Given the description of an element on the screen output the (x, y) to click on. 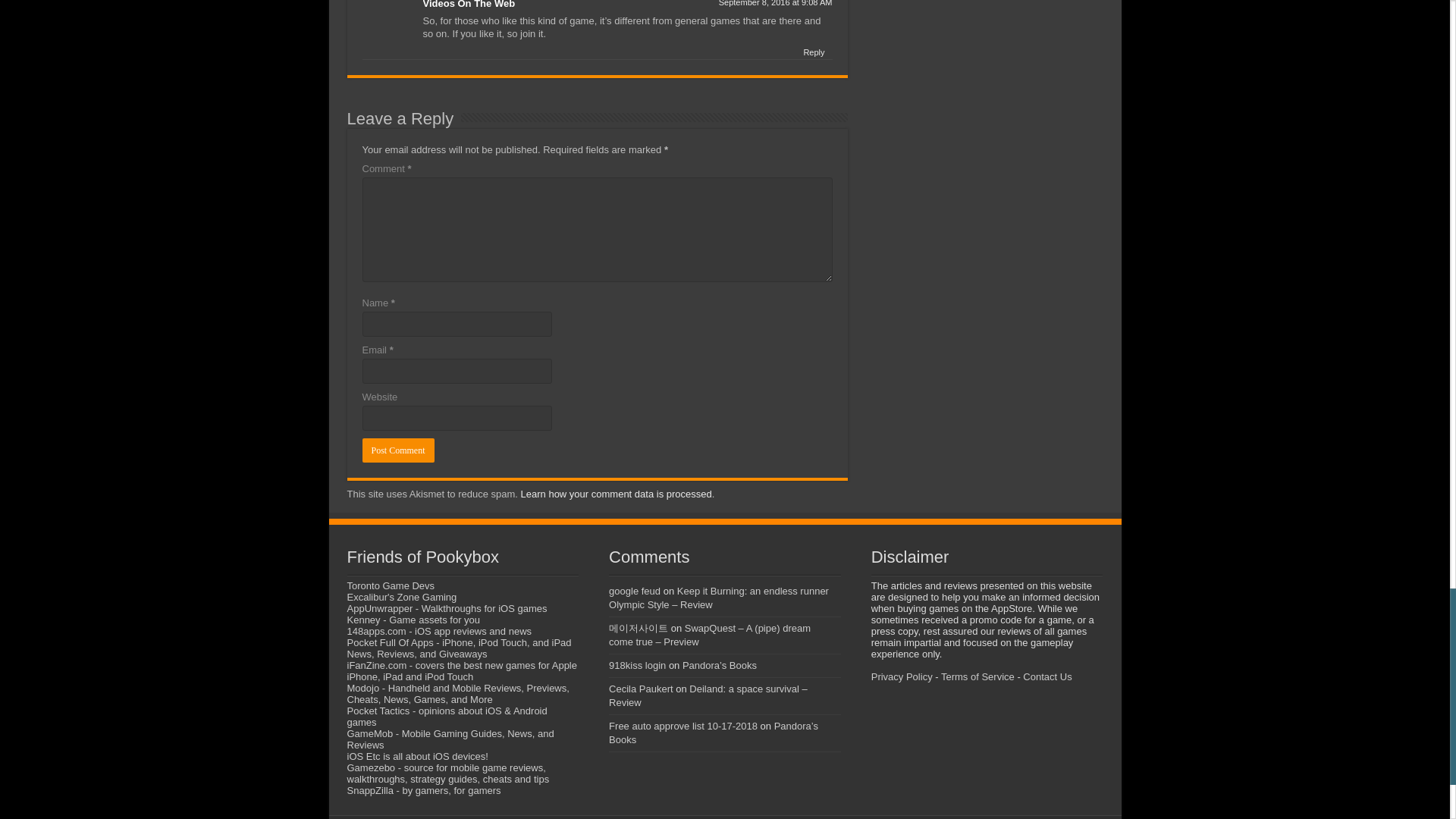
Post Comment (397, 450)
